Given the description of an element on the screen output the (x, y) to click on. 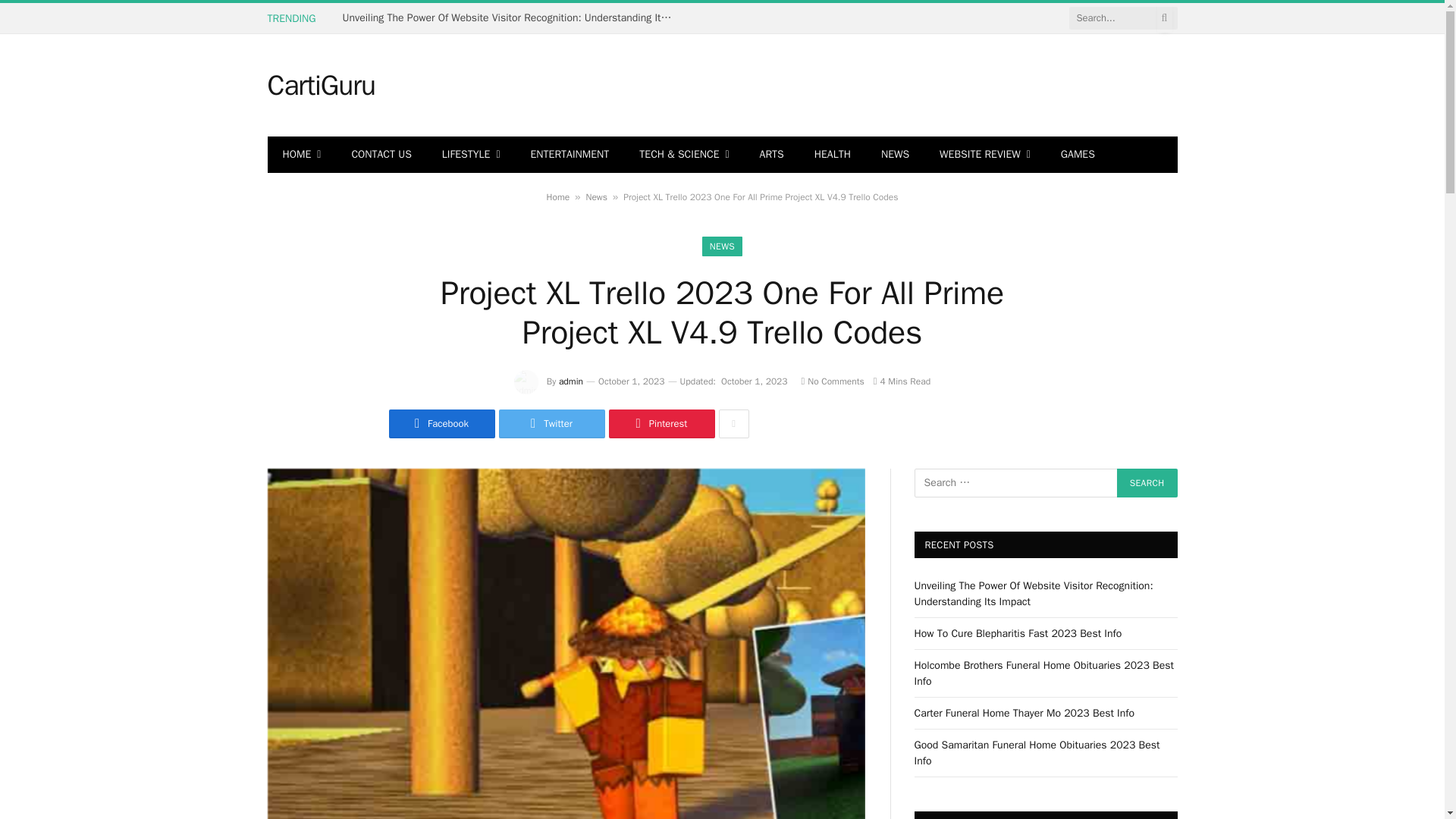
News (596, 196)
HOME (301, 154)
Search (1146, 482)
WEBSITE REVIEW (984, 154)
CONTACT US (381, 154)
No Comments (831, 381)
NEWS (721, 246)
CartiGuru (320, 85)
Pinterest (661, 423)
Search (1146, 482)
